Given the description of an element on the screen output the (x, y) to click on. 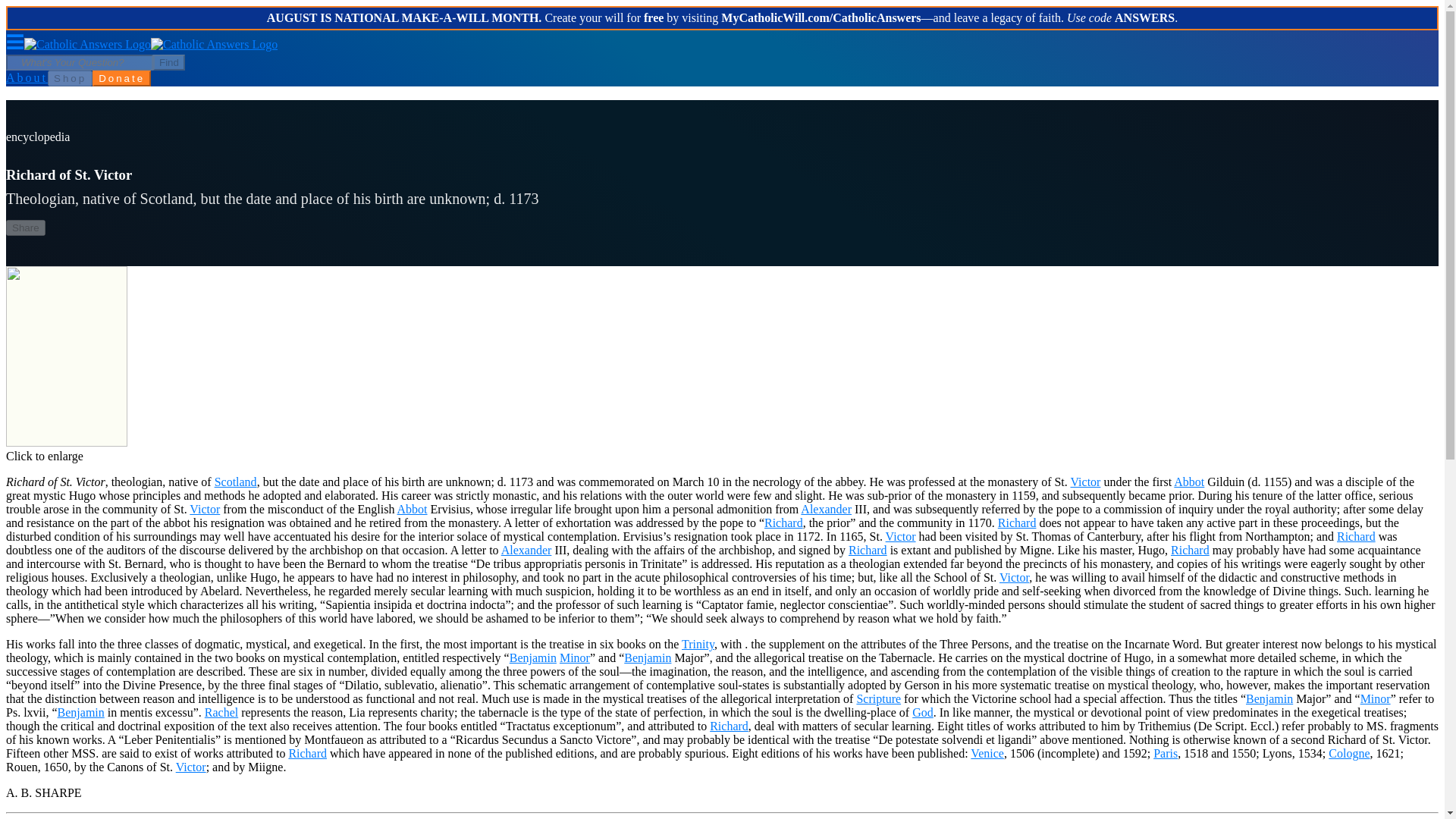
Shop (70, 77)
About (26, 77)
Find (168, 62)
Shop (70, 78)
